Given the description of an element on the screen output the (x, y) to click on. 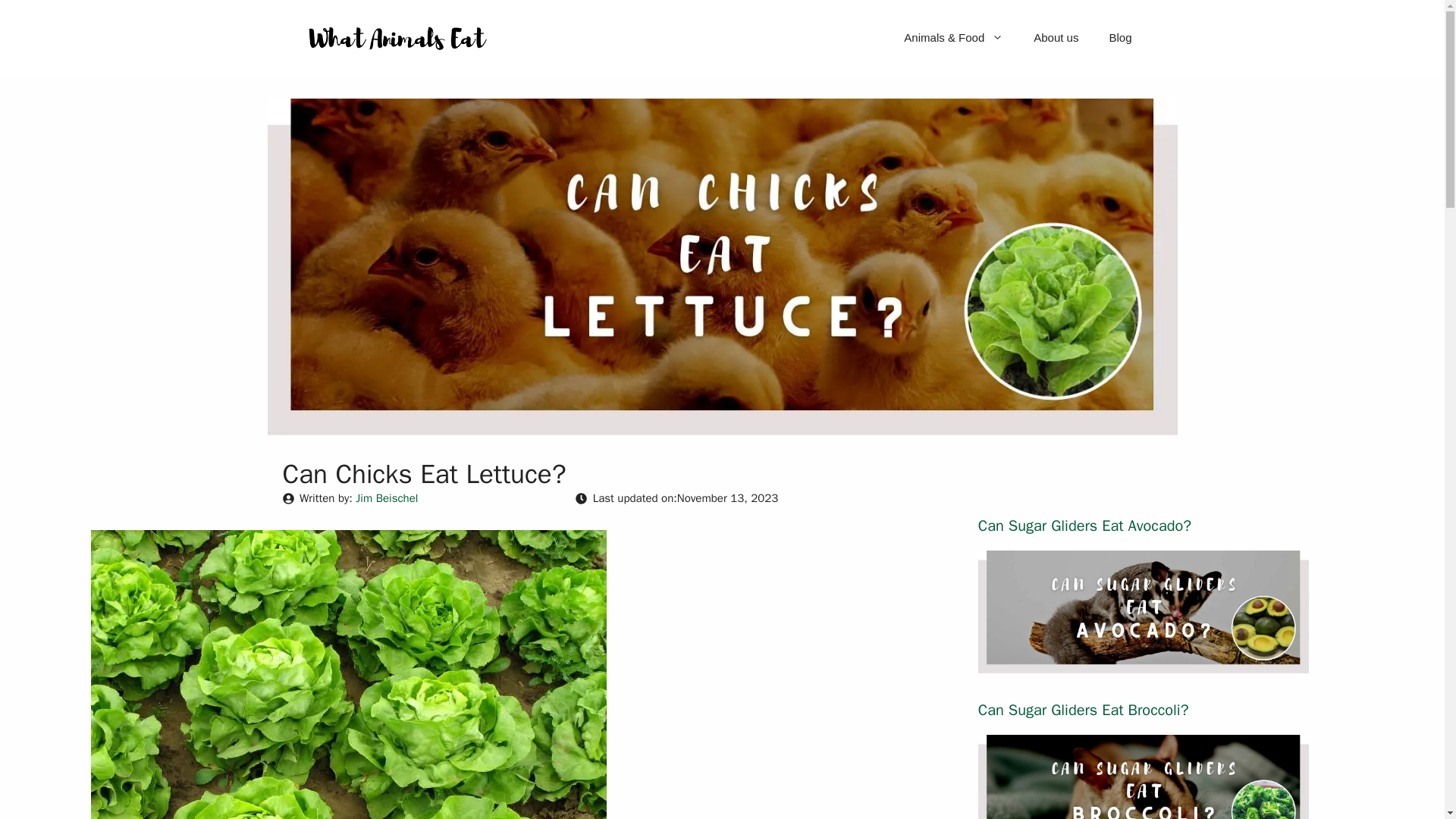
Can Sugar Gliders Eat Avocado? (1084, 525)
Can Sugar Gliders Eat Broccoli? (1083, 710)
Jim Beischel (386, 498)
Can Sugar Gliders Eat Avocado? (1143, 662)
Blog (1120, 37)
About us (1055, 37)
